Given the description of an element on the screen output the (x, y) to click on. 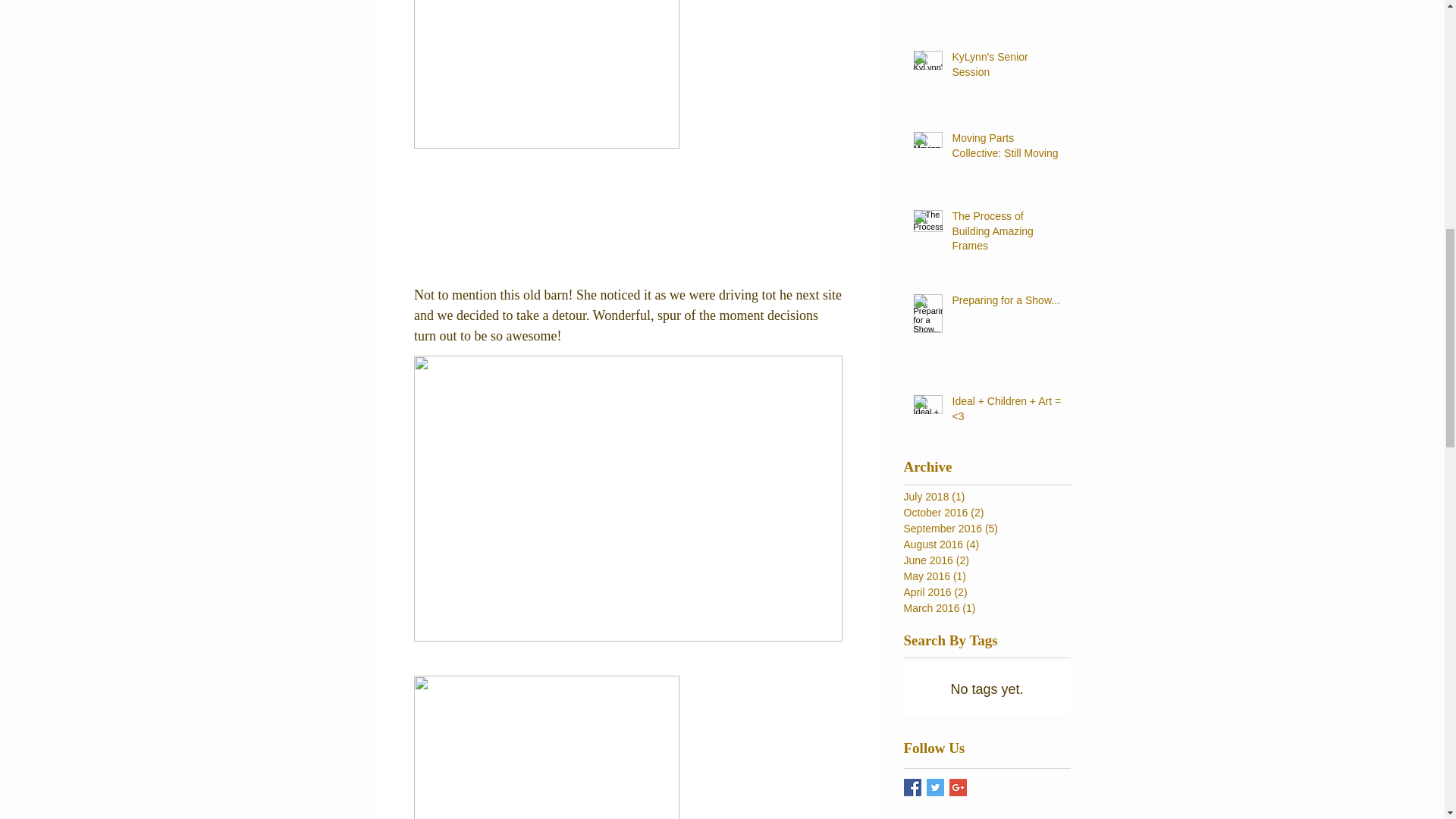
Preparing for a Show... (1006, 303)
The Process of Building Amazing Frames (1006, 234)
KyLynn's Senior Session (1006, 67)
Moving Parts Collective: Still Moving (1006, 149)
